Given the description of an element on the screen output the (x, y) to click on. 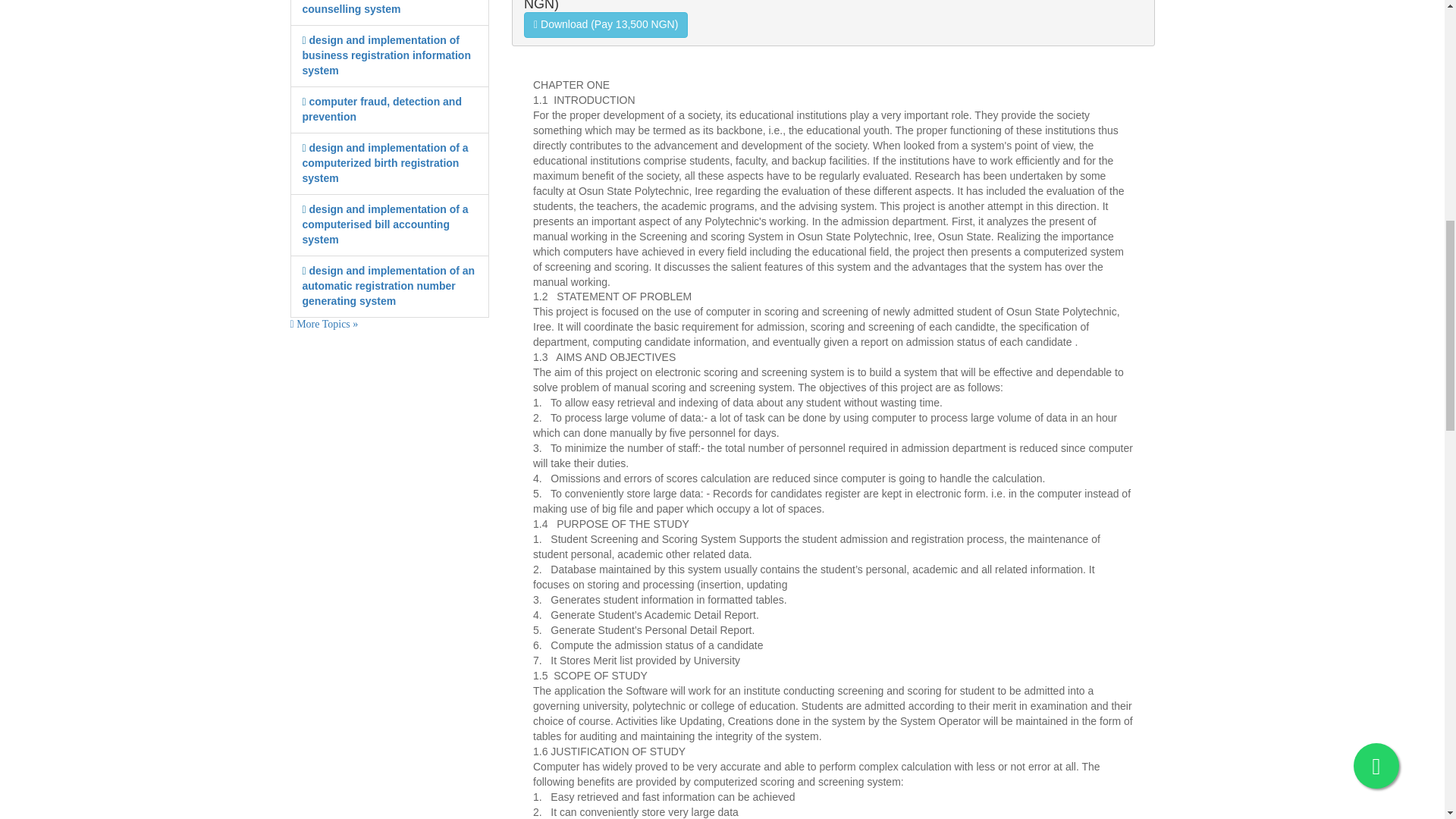
computer fraud, detection and prevention (381, 108)
computer fraud, detection and prevention (381, 108)
